Given the description of an element on the screen output the (x, y) to click on. 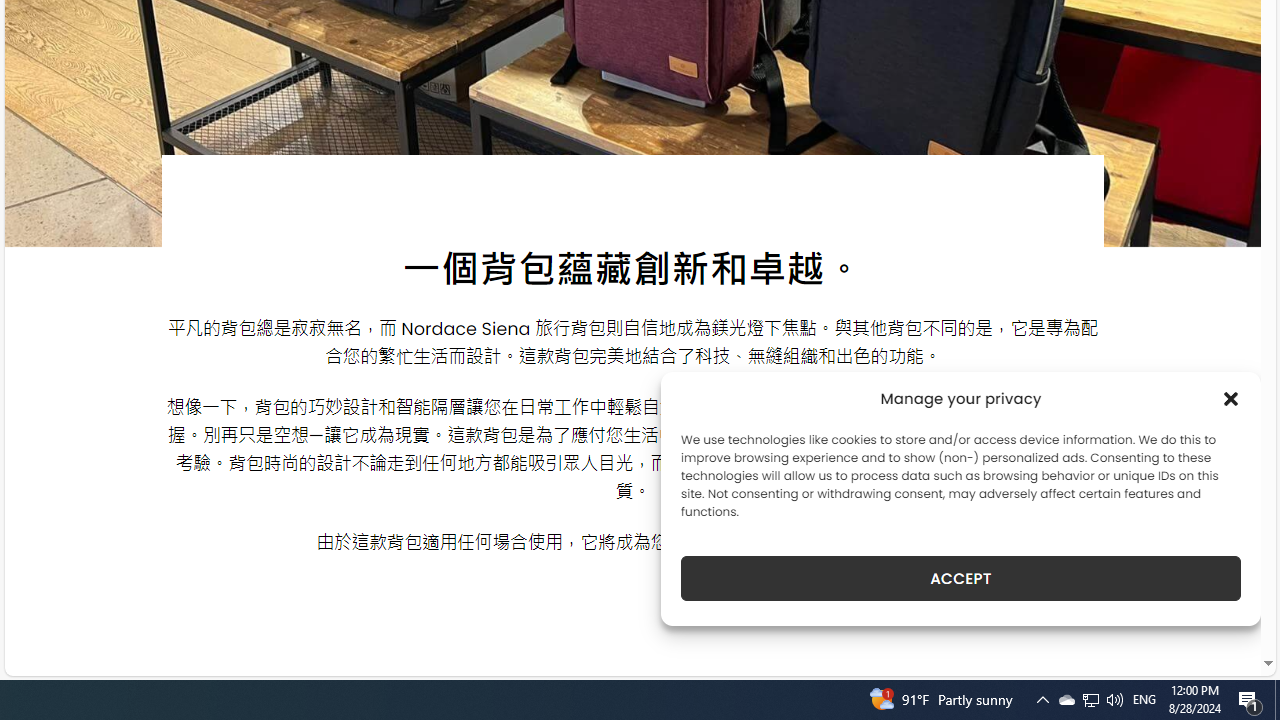
ACCEPT (960, 578)
Class: cmplz-close (1231, 398)
